Given the description of an element on the screen output the (x, y) to click on. 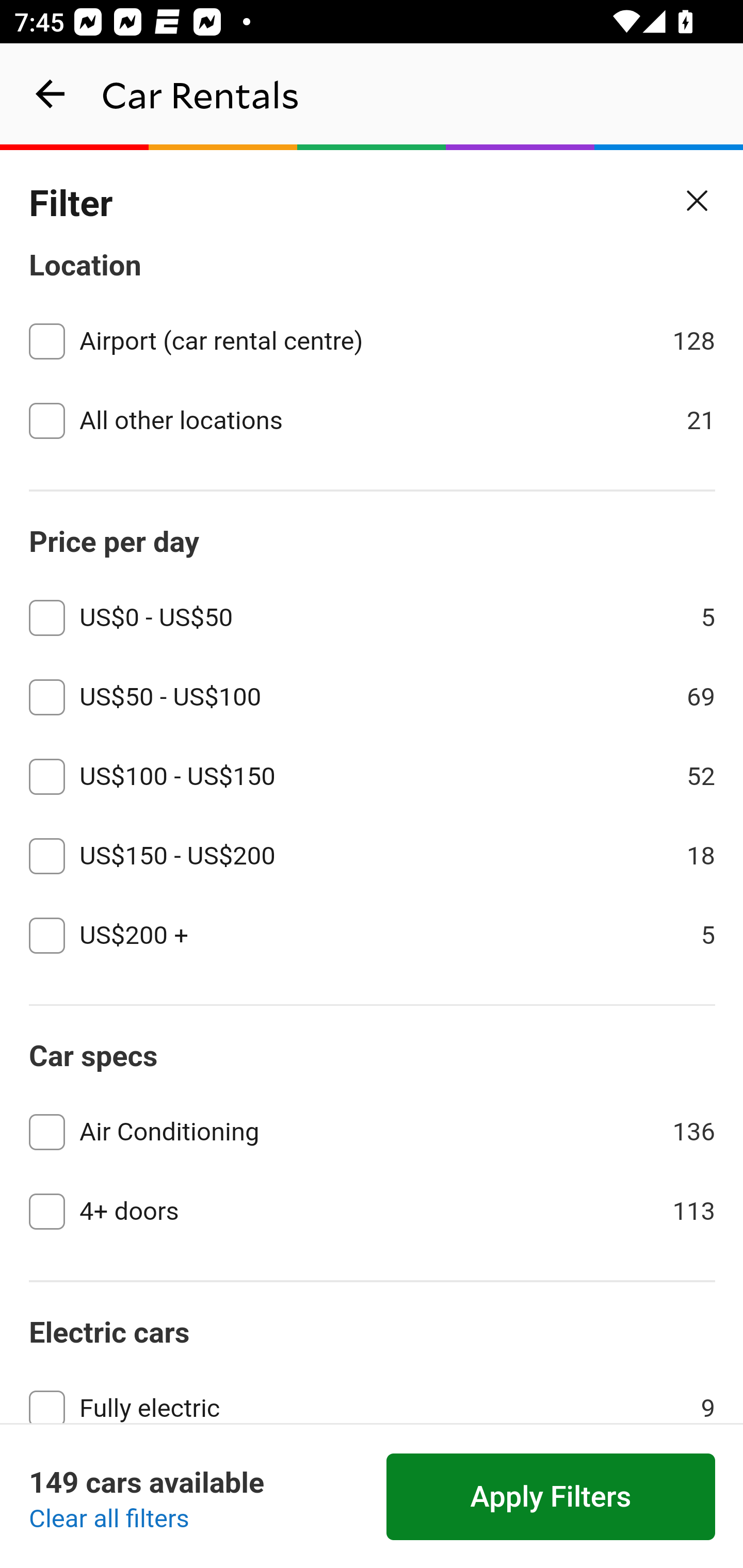
navigation_button (50, 93)
Close (697, 201)
Apply Filters (551, 1497)
Clear all filters (108, 1519)
